Given the description of an element on the screen output the (x, y) to click on. 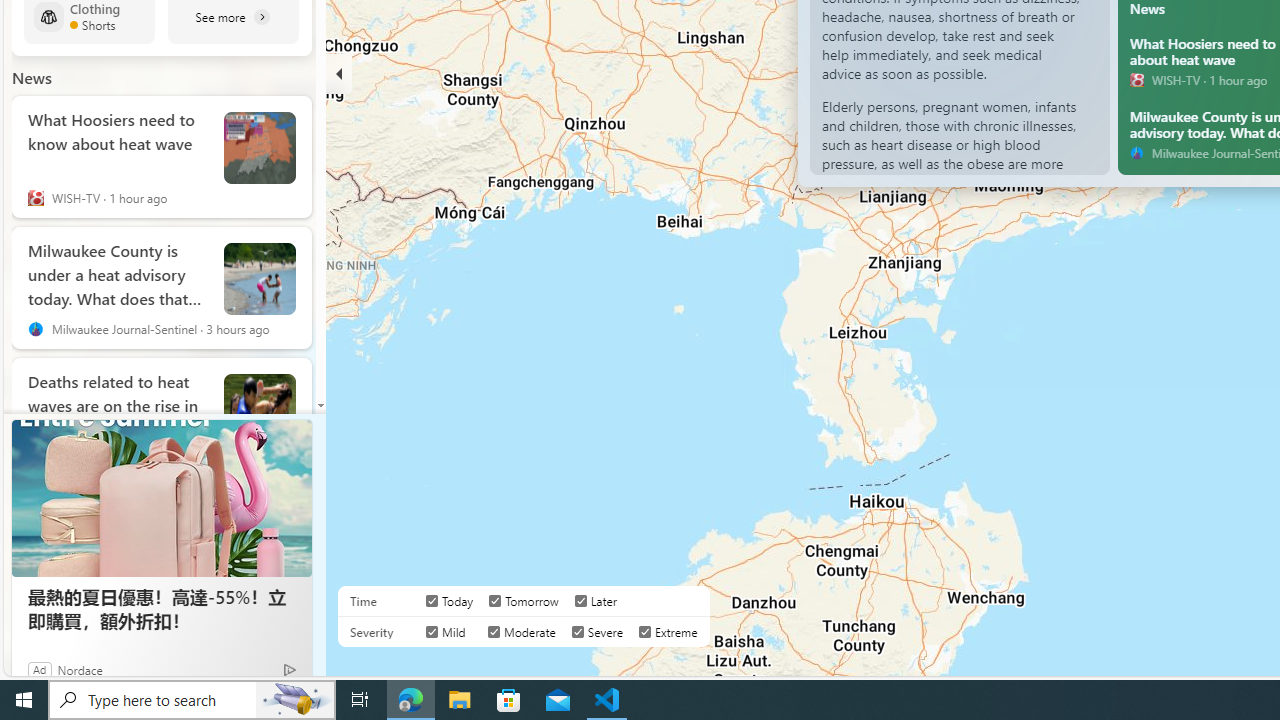
WISH-TV (1137, 79)
Milwaukee Journal-Sentinel (1137, 151)
Deaths related to heat waves are on the rise in U.S. (259, 409)
